Given the description of an element on the screen output the (x, y) to click on. 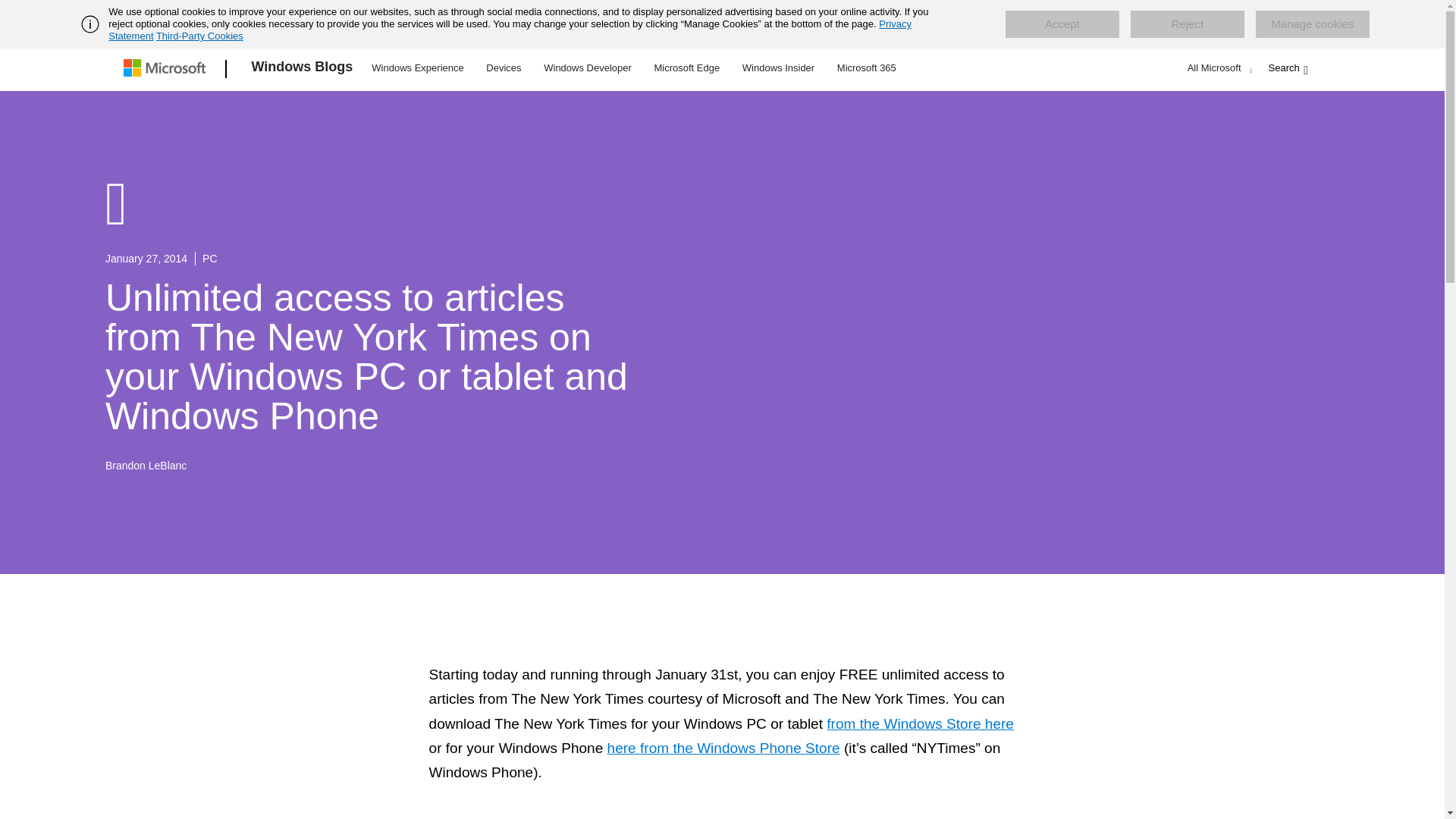
Microsoft 365 (865, 67)
Manage cookies (1312, 23)
Reject (1187, 23)
Windows Blogs (302, 69)
All Microsoft (1217, 67)
Microsoft Edge (686, 67)
Third-Party Cookies (199, 35)
Windows Insider (778, 67)
Accept (1062, 23)
Windows Developer (588, 67)
